Given the description of an element on the screen output the (x, y) to click on. 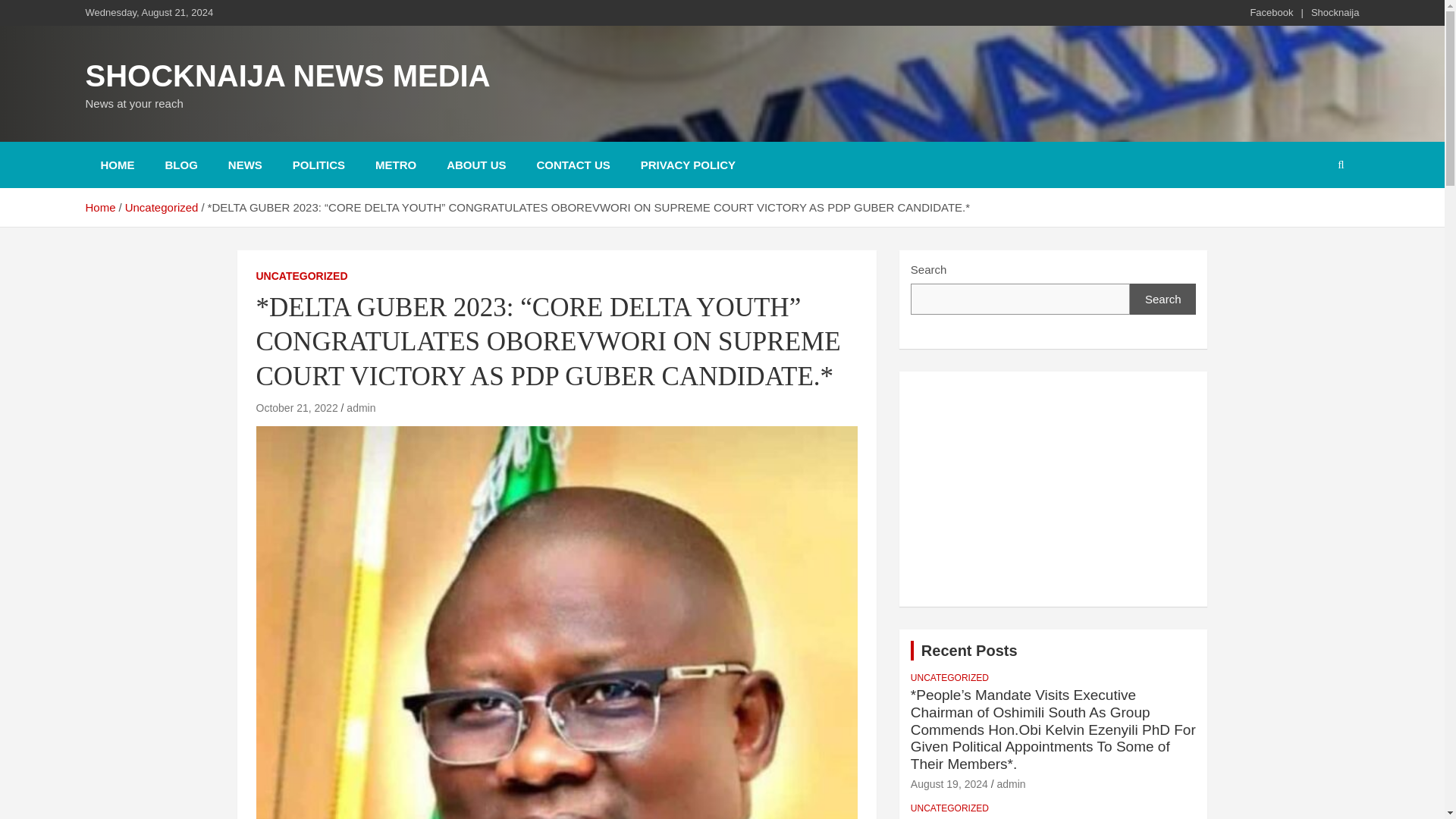
admin (360, 408)
Facebook (1270, 12)
BLOG (180, 164)
August 19, 2024 (949, 784)
ABOUT US (475, 164)
SHOCKNAIJA NEWS MEDIA (286, 75)
admin (1010, 784)
METRO (394, 164)
UNCATEGORIZED (301, 276)
UNCATEGORIZED (949, 808)
